Given the description of an element on the screen output the (x, y) to click on. 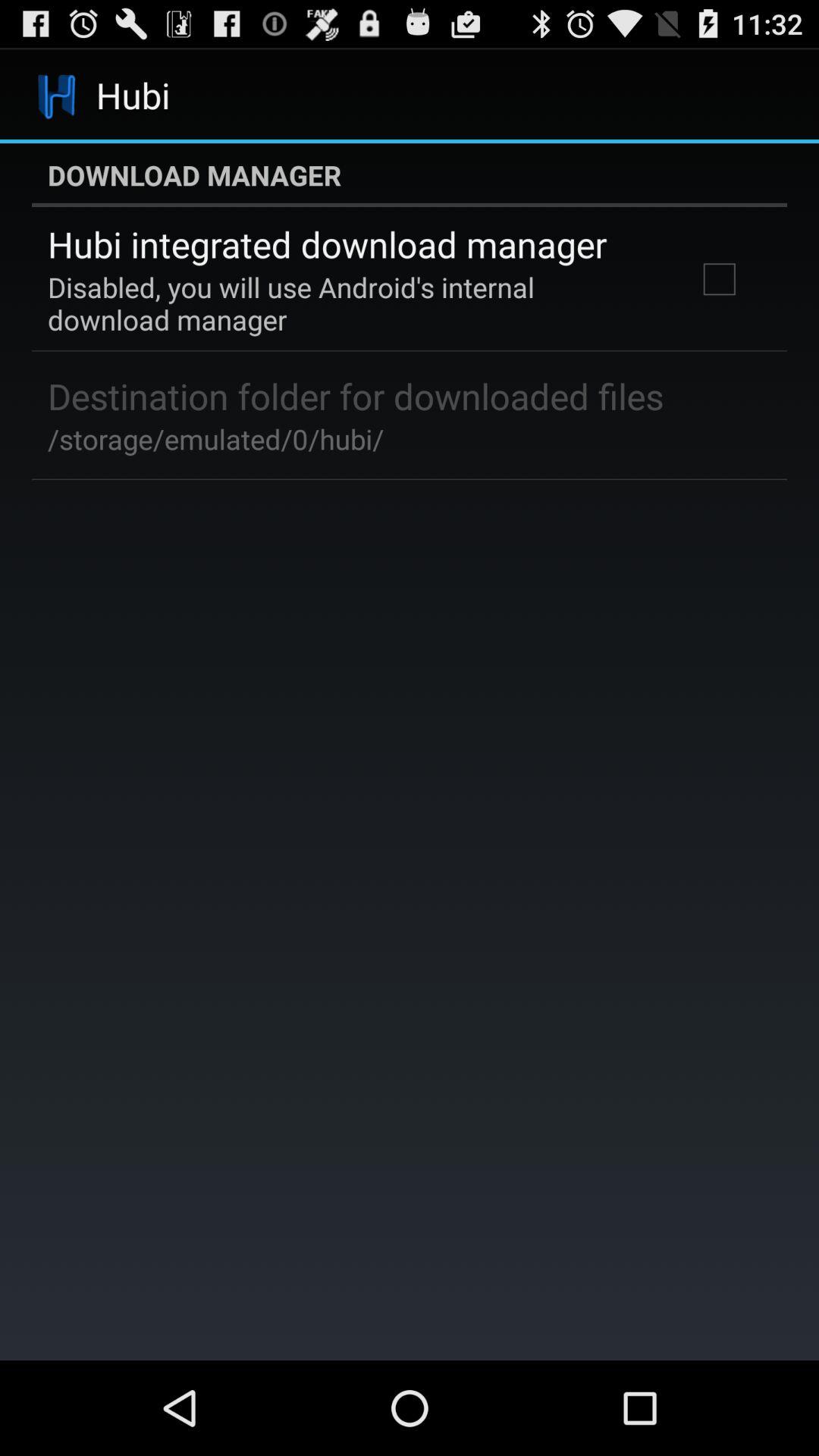
scroll until disabled you will app (351, 303)
